Given the description of an element on the screen output the (x, y) to click on. 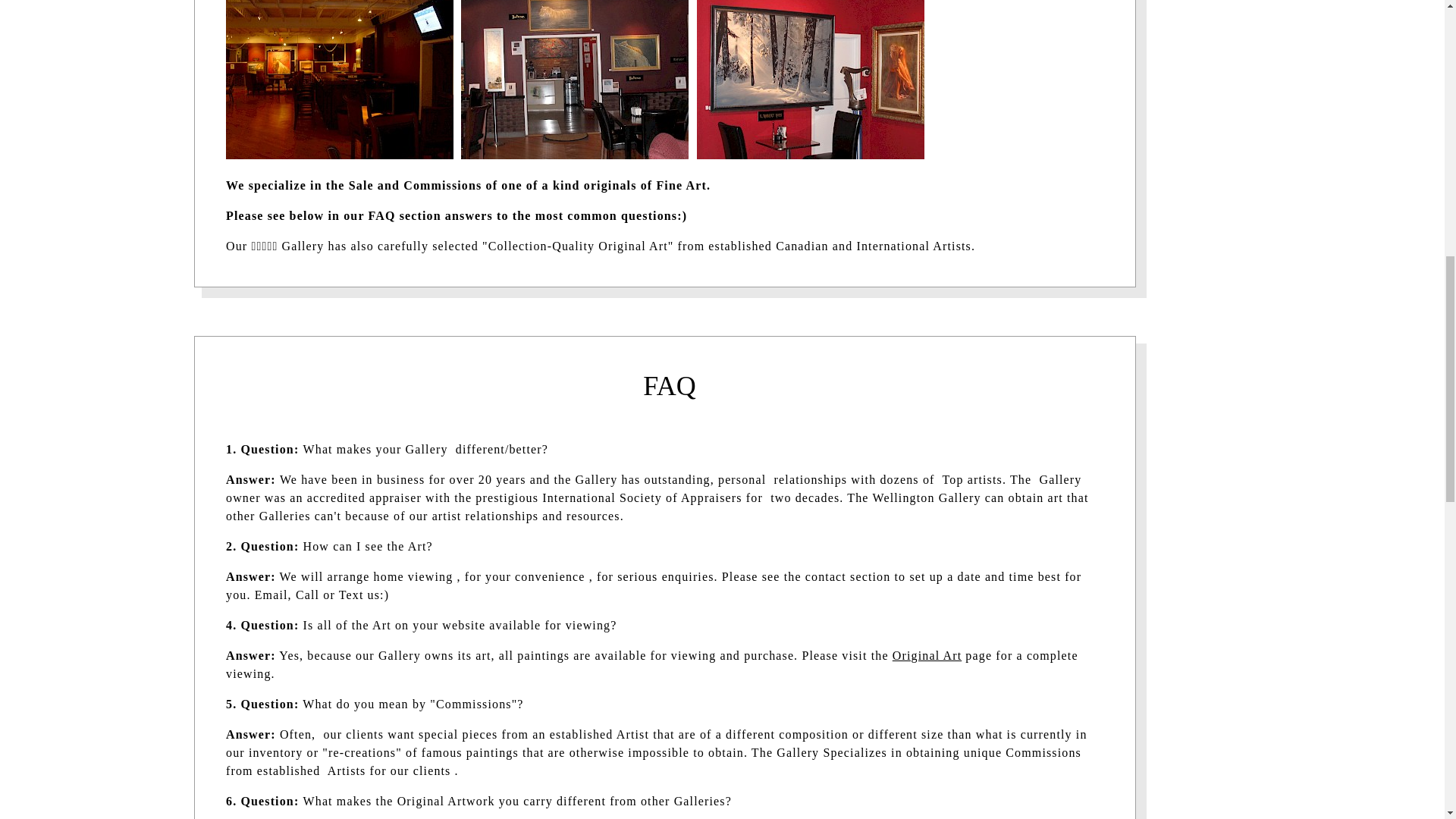
Original Art (926, 655)
